Given the description of an element on the screen output the (x, y) to click on. 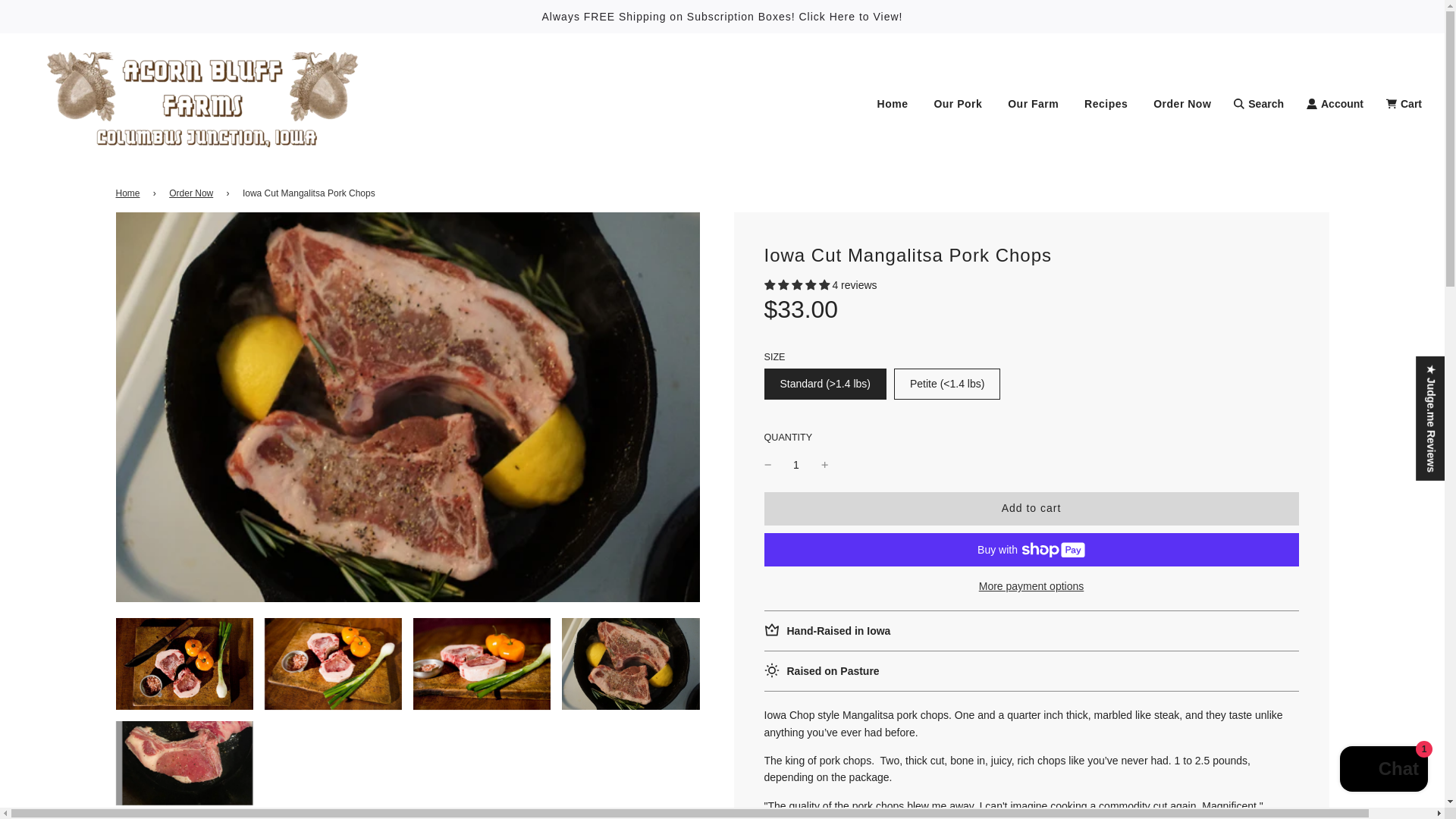
Log in (1334, 103)
Back to the frontpage (129, 193)
1 (796, 464)
Shopify online store chat (1383, 770)
Our Farm (1032, 103)
Home (893, 103)
Our Pork (956, 103)
